Given the description of an element on the screen output the (x, y) to click on. 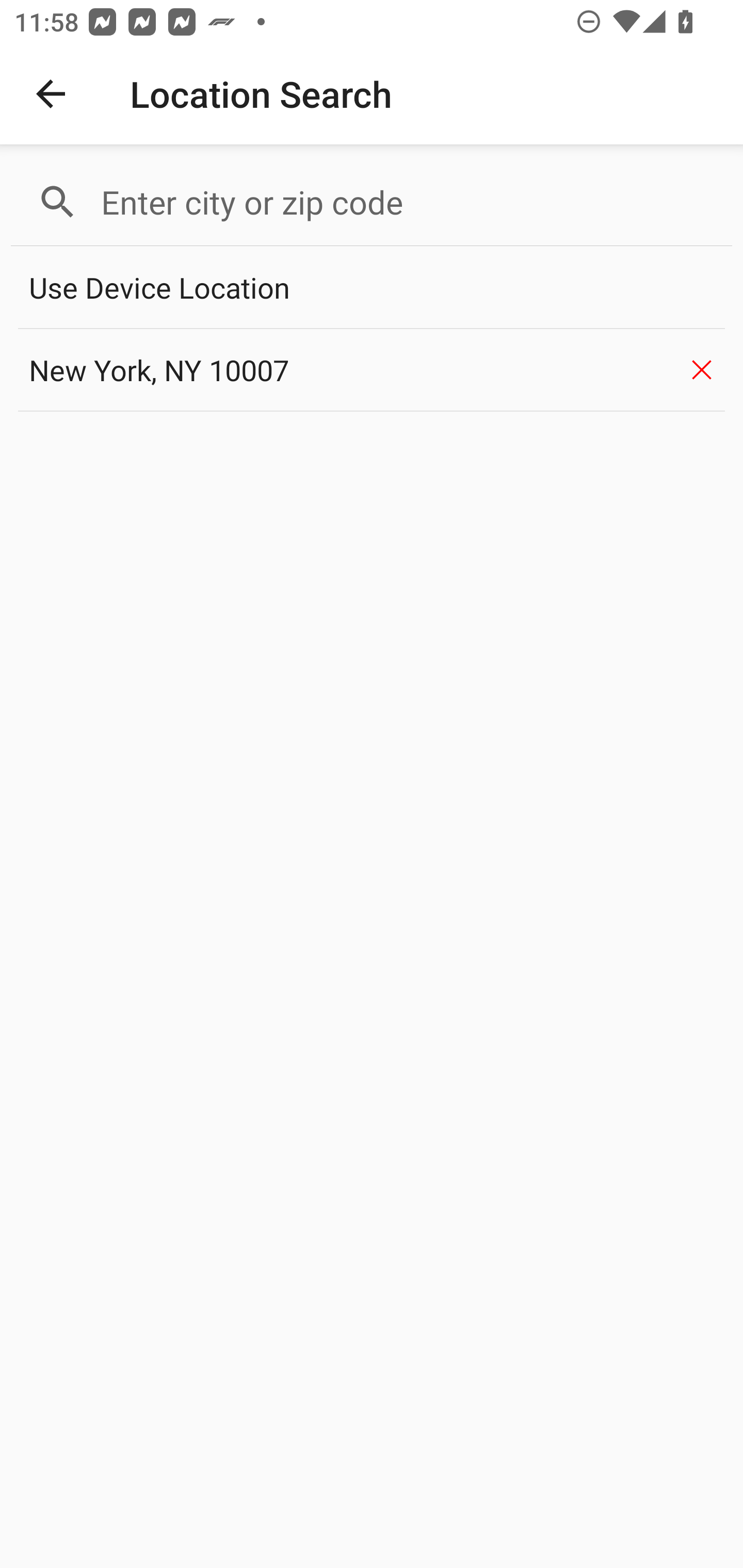
Navigate up (50, 93)
Enter city or zip code (407, 202)
Use Device Location (371, 287)
